Given the description of an element on the screen output the (x, y) to click on. 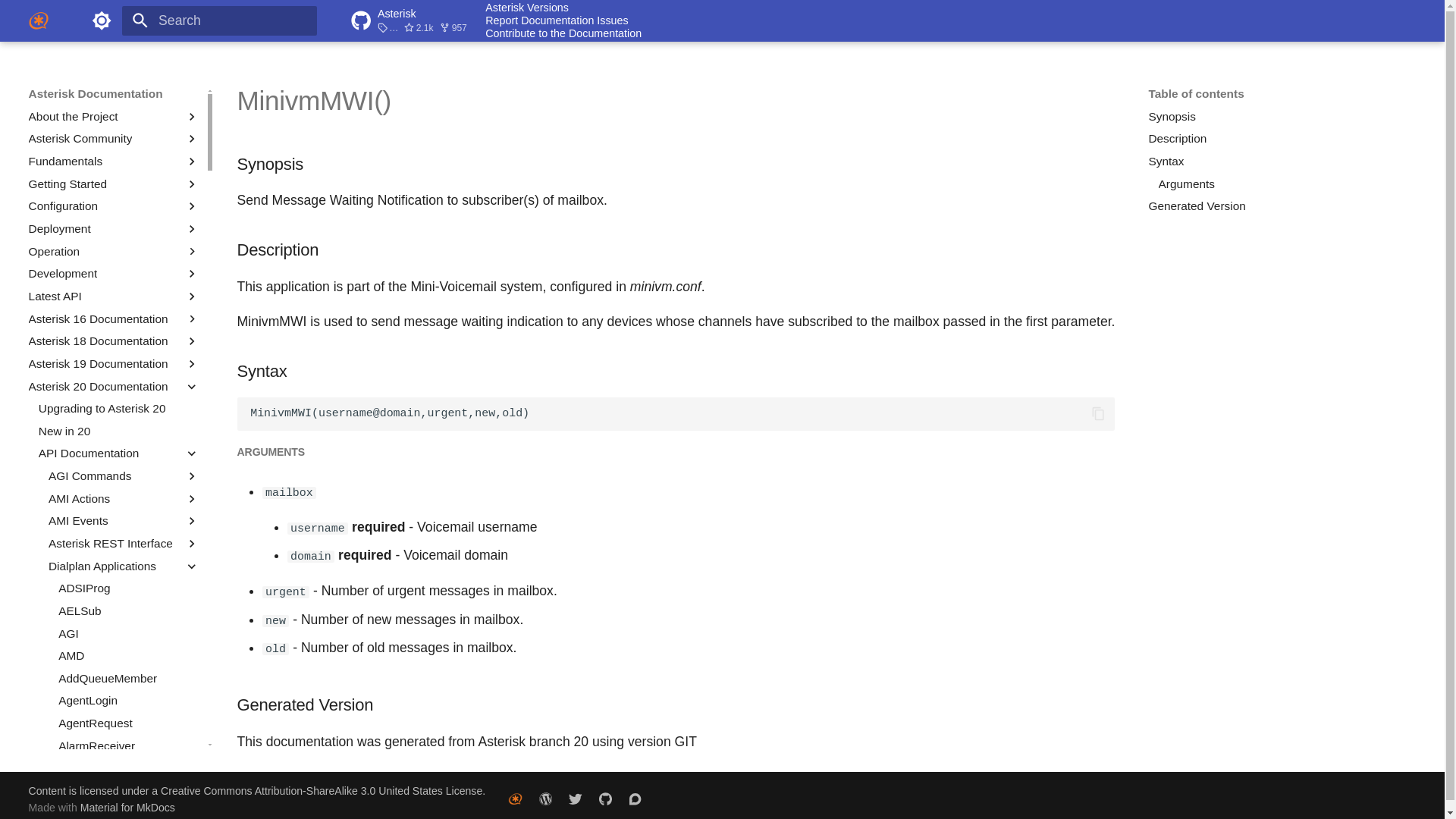
AgentLogin (128, 700)
AMI Events (123, 520)
Asterisk Community (114, 138)
Latest API (114, 296)
Development (114, 273)
Go to repository (411, 20)
Asterisk Documentation (38, 20)
Asterisk 20 Documentation (103, 386)
Configuration (114, 206)
Asterisk 18 Documentation (114, 340)
